Given the description of an element on the screen output the (x, y) to click on. 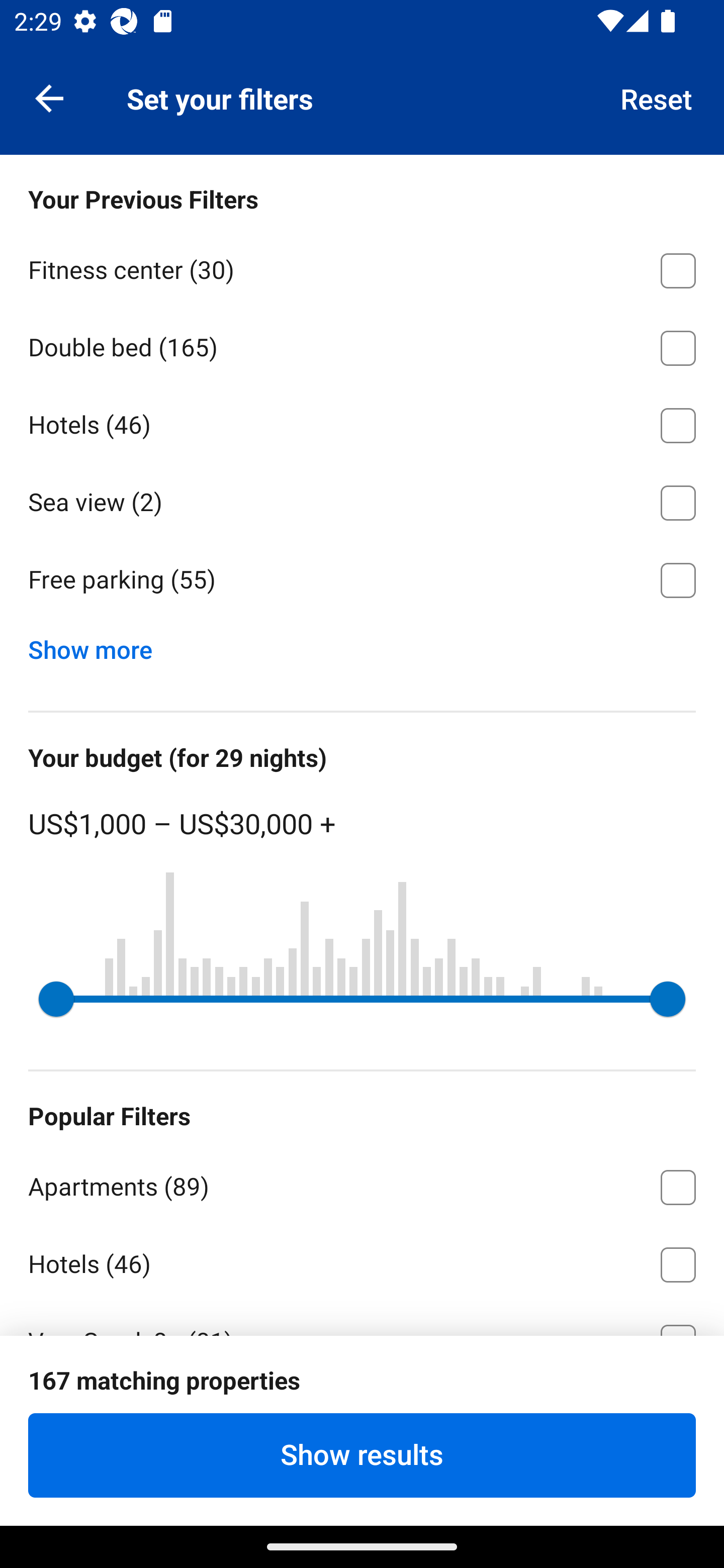
Navigate up (49, 97)
Reset (656, 97)
Fitness center ⁦(30) (361, 266)
Double bed ⁦(165) (361, 344)
Hotels ⁦(46) (361, 422)
Sea view ⁦(2) (361, 498)
Free parking ⁦(55) (361, 579)
Show more (97, 645)
Apartments ⁦(89) (361, 1183)
Hotels ⁦(46) (361, 1261)
Show results (361, 1454)
